Given the description of an element on the screen output the (x, y) to click on. 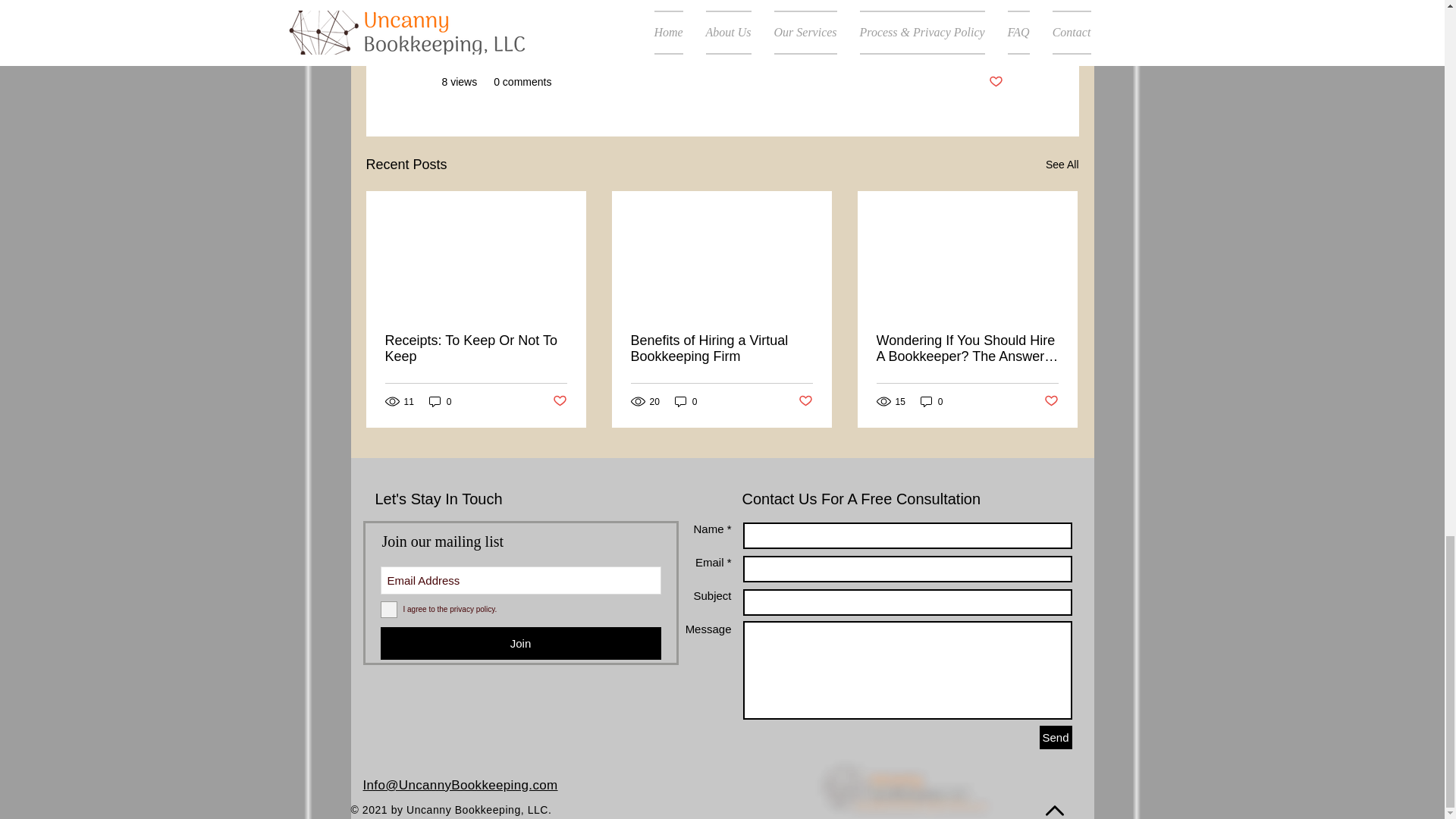
Post not marked as liked (558, 401)
Benefits of Hiring a Virtual Bookkeeping Firm (721, 348)
Post not marked as liked (1050, 401)
See All (1061, 164)
Send (1055, 737)
Post not marked as liked (995, 82)
Business (981, 36)
Join (520, 643)
Post not marked as liked (804, 401)
Receipts: To Keep Or Not To Keep (476, 348)
0 (440, 400)
0 (685, 400)
0 (931, 400)
